Given the description of an element on the screen output the (x, y) to click on. 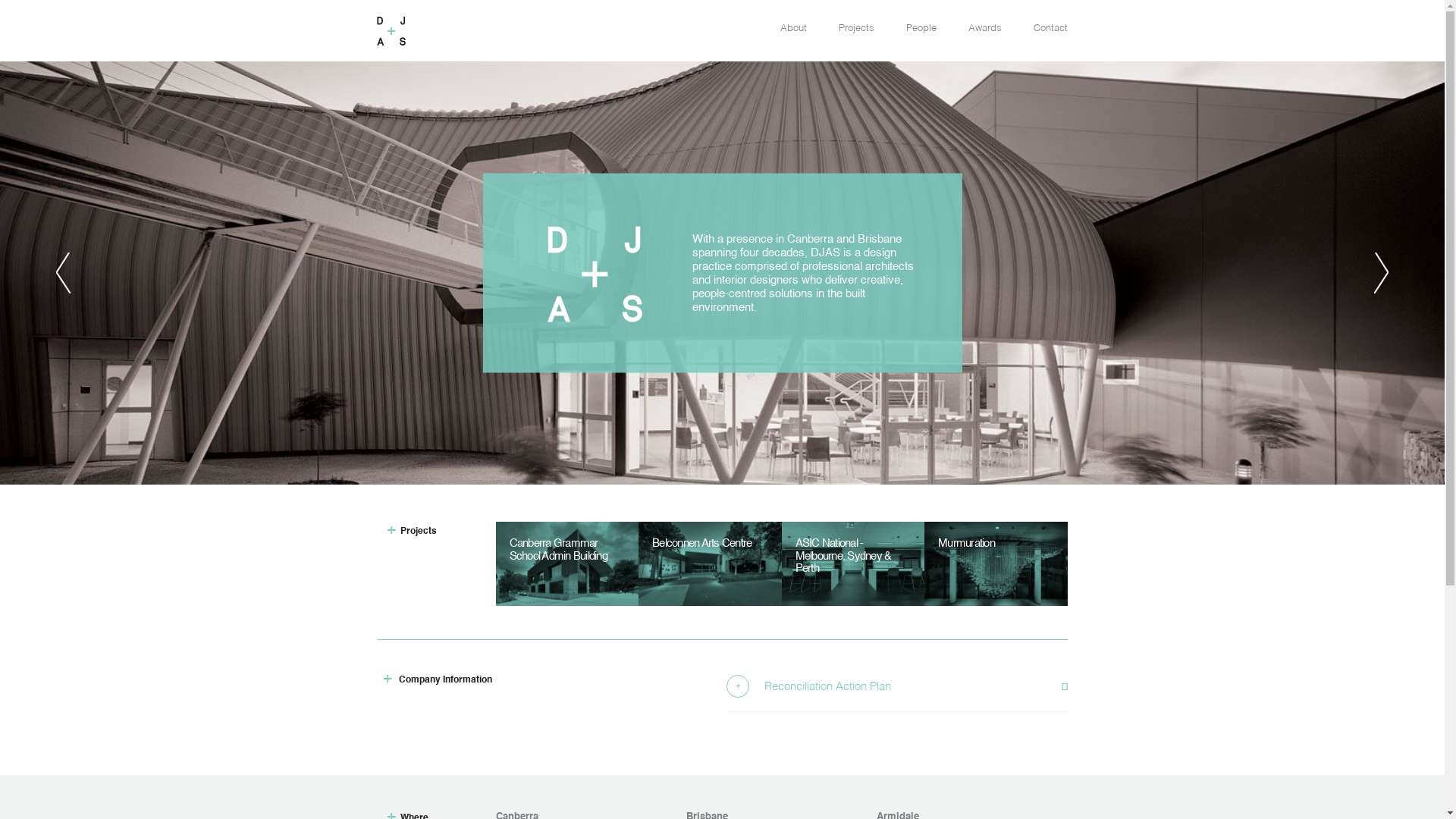
Murmuration Element type: text (995, 563)
Canberra Grammar School Admin Building Element type: text (567, 563)
Awards Element type: text (984, 28)
Projects Element type: text (856, 28)
Belconnen Arts Centre Element type: text (709, 563)
Murmuration Element type: hover (995, 563)
ASIC SYD Element type: hover (852, 563)
ASIC National - Melbourne, Sydney & Perth Element type: text (852, 563)
About Element type: text (792, 28)
Contact Element type: text (1049, 28)
BelconnenArtsCentre - Monday, 25 January 2021 Element type: hover (709, 563)
People Element type: text (920, 28)
CGS Admin Building Element type: hover (567, 563)
+
Reconciliation Action Plan Element type: text (896, 685)
